Given the description of an element on the screen output the (x, y) to click on. 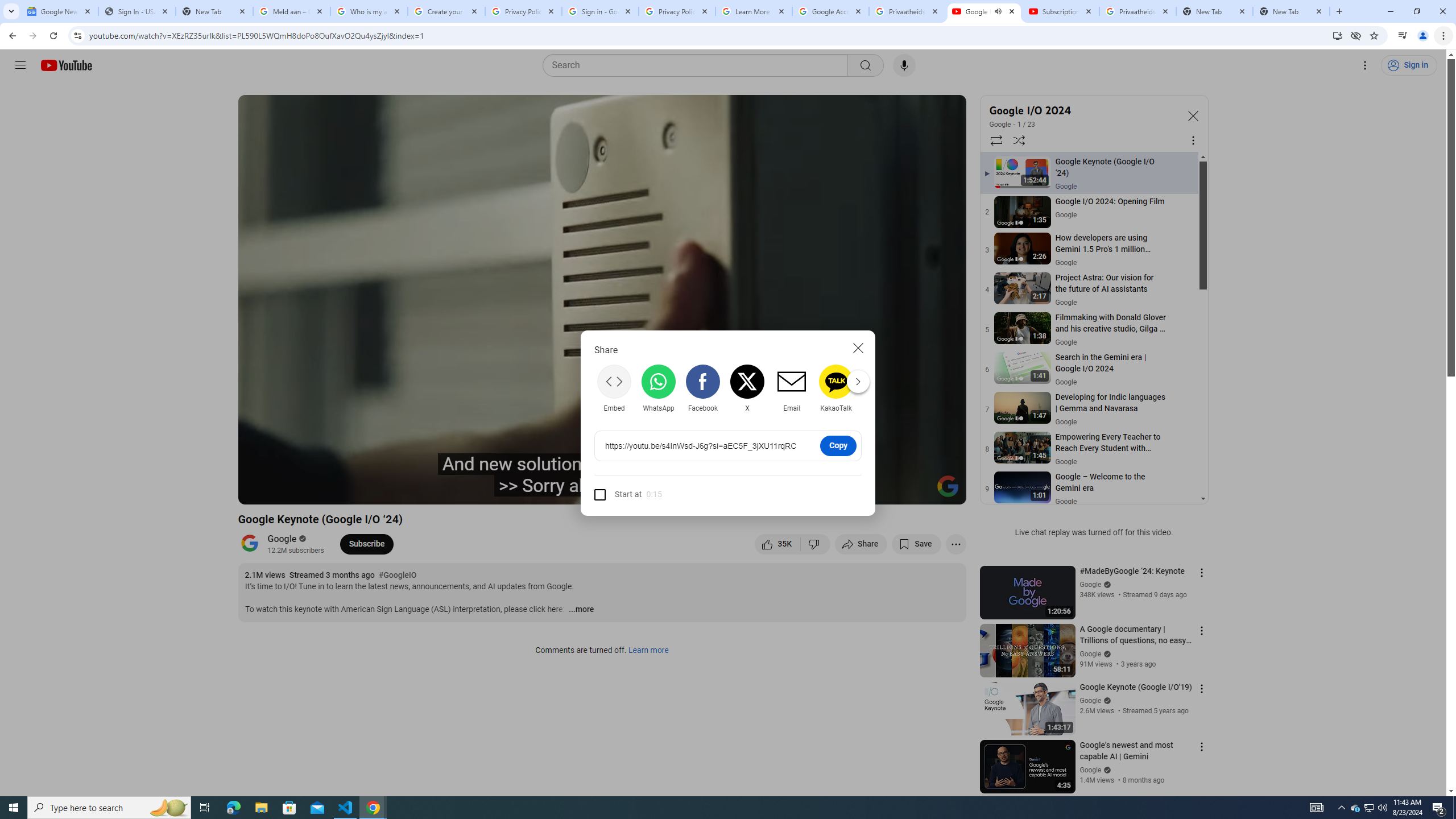
Subscriptions - YouTube (1061, 11)
New Tab (213, 11)
...more (580, 609)
Mute (m) (338, 490)
Facebook (702, 388)
Seek slider (601, 476)
Google Account (830, 11)
